Given the description of an element on the screen output the (x, y) to click on. 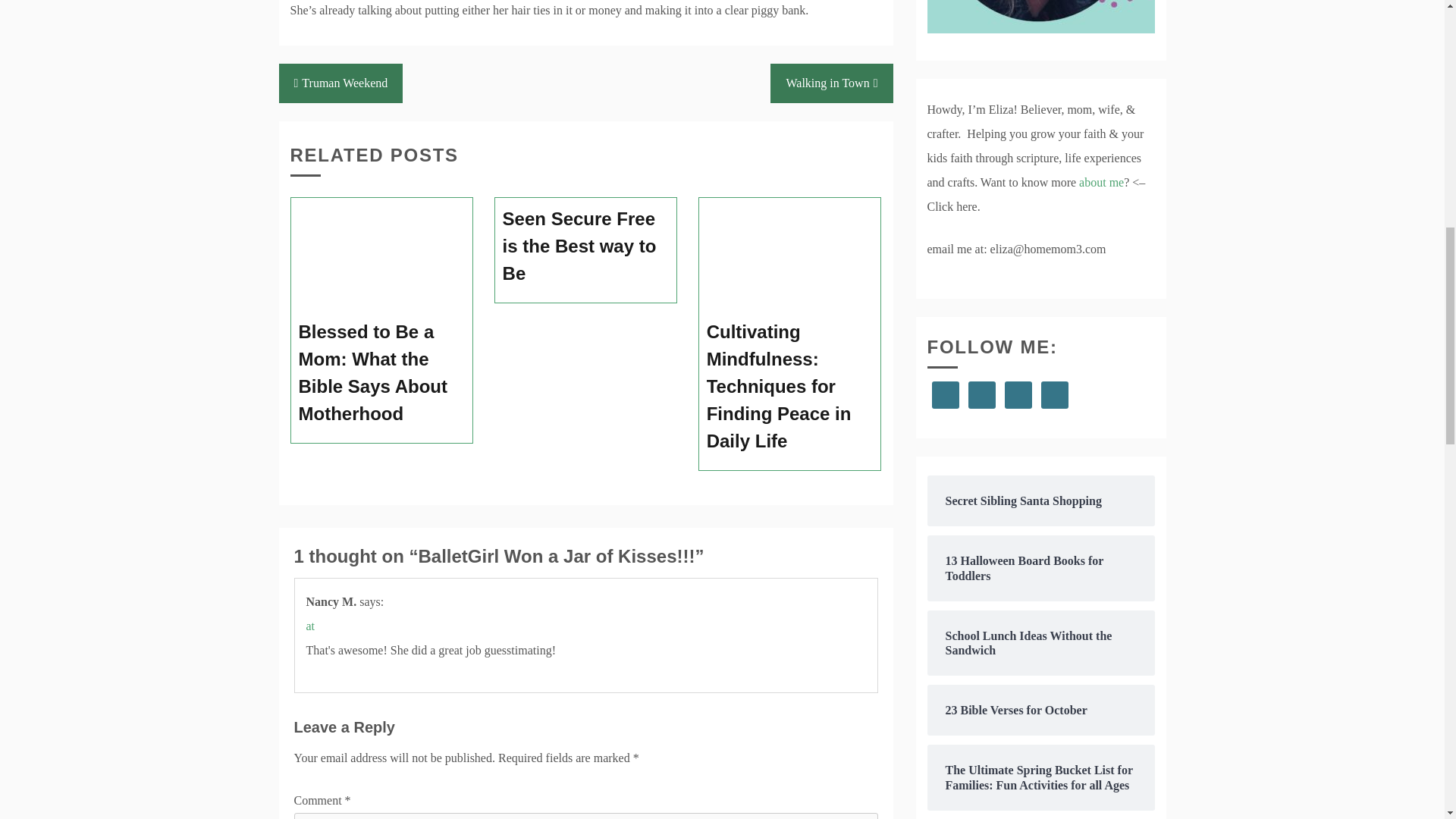
about me (1101, 182)
Secret Sibling Santa Shopping (1039, 500)
Eliza Ferree - The Life of a Home Mom (1040, 16)
Blessed to Be a Mom: What the Bible Says About Motherhood (381, 372)
Seen Secure Free is the Best way to Be (585, 246)
23 Bible Verses for October (1039, 709)
13 Halloween Board Books for Toddlers (1039, 567)
School Lunch Ideas Without the Sandwich (1039, 642)
Truman Weekend (341, 83)
Walking in Town (831, 83)
